Given the description of an element on the screen output the (x, y) to click on. 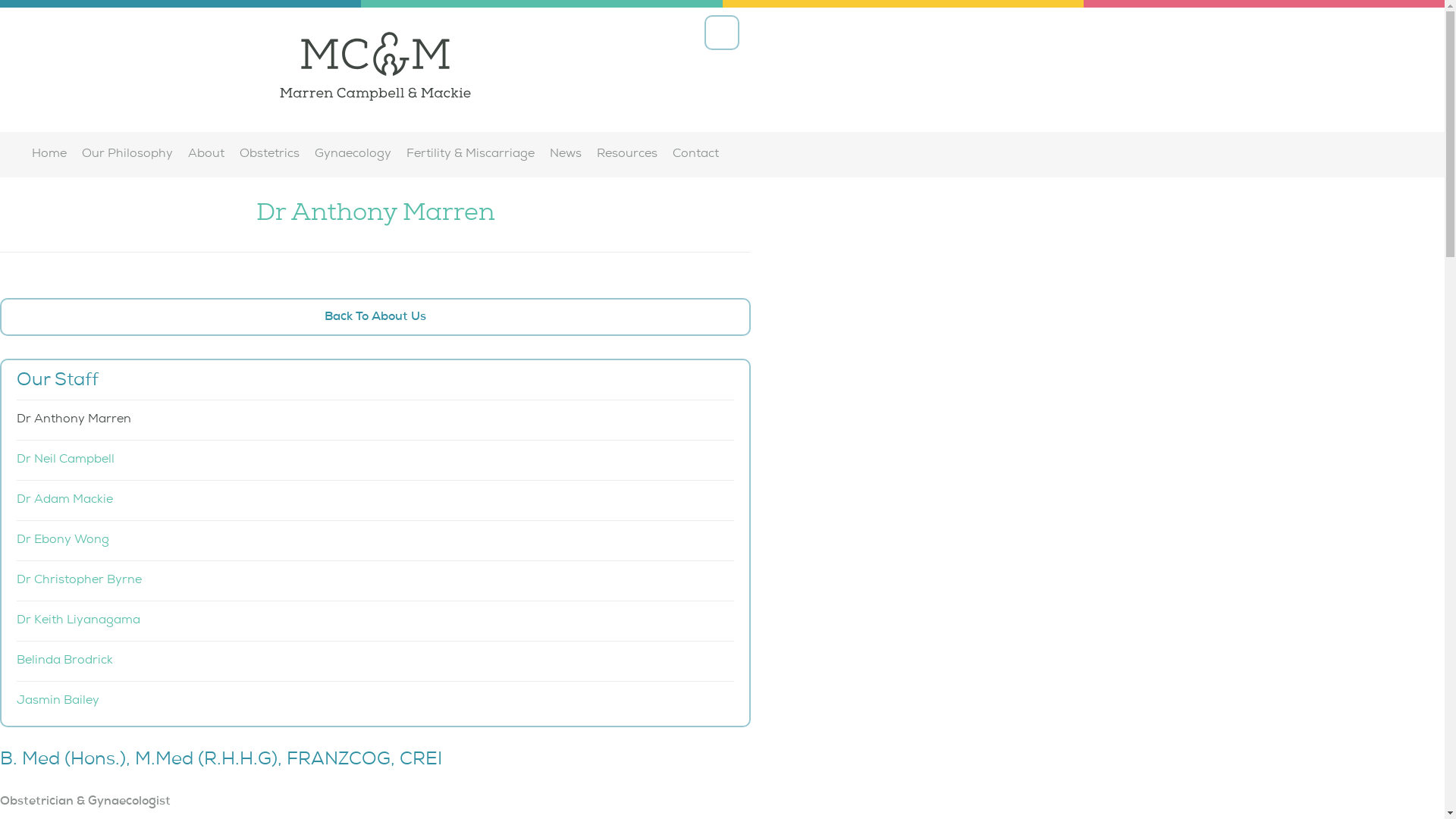
Dr Keith Liyanagama Element type: text (375, 620)
Dr Ebony Wong Element type: text (375, 540)
Fertility & Miscarriage Element type: text (470, 155)
Dr Neil Campbell Element type: text (375, 460)
Dr Anthony Marren Element type: text (375, 419)
Dr Christopher Byrne Element type: text (375, 580)
Home Element type: text (48, 155)
Obstetrics Element type: text (269, 155)
Gynaecology Element type: text (352, 155)
Jasmin Bailey Element type: text (375, 701)
About Element type: text (206, 155)
Search Element type: text (721, 32)
Contact Element type: text (695, 155)
Belinda Brodrick Element type: text (375, 660)
Our Philosophy Element type: text (126, 155)
Resources Element type: text (626, 155)
News Element type: text (565, 155)
Back To About Us Element type: text (375, 316)
Dr Adam Mackie Element type: text (375, 500)
Marren Campbell & Mackie Element type: hover (374, 69)
